Given the description of an element on the screen output the (x, y) to click on. 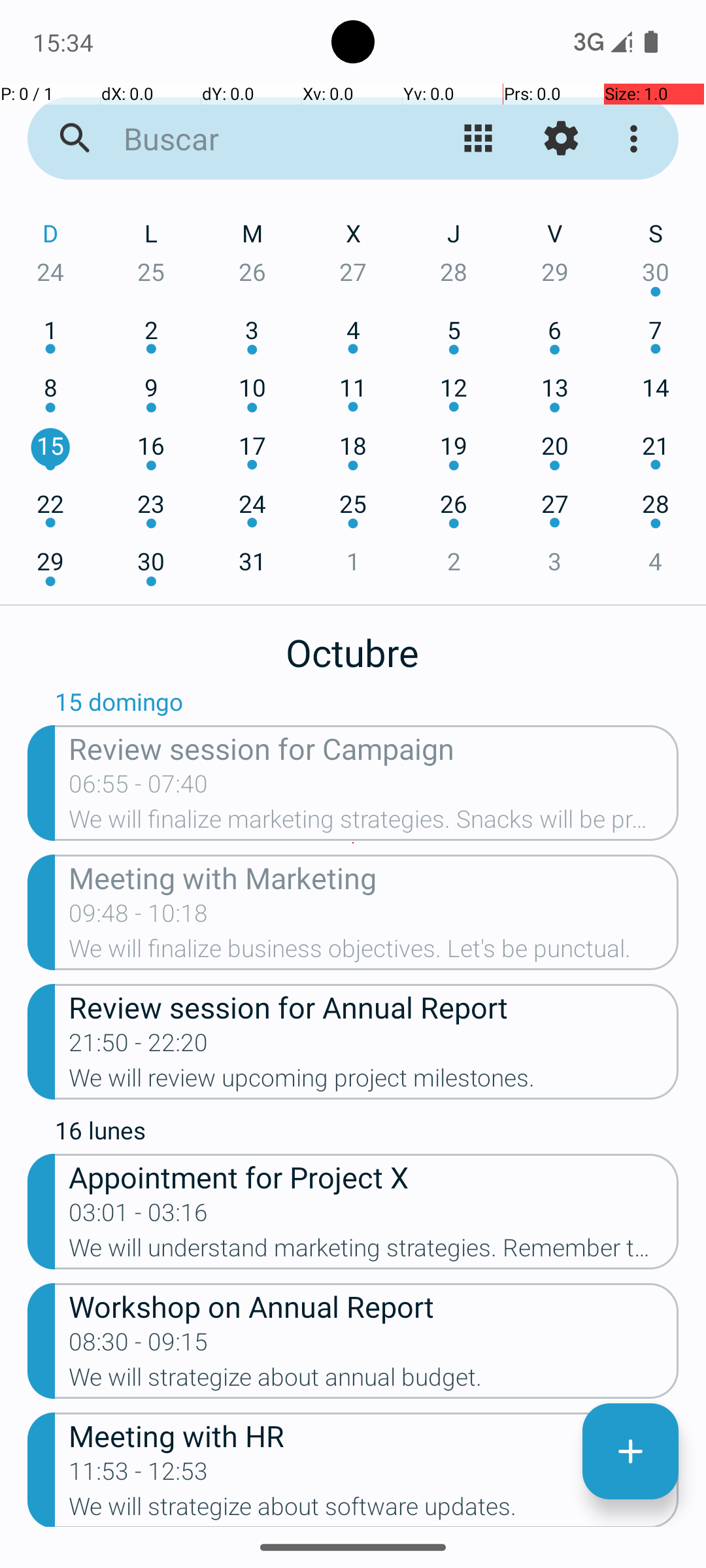
15 domingo Element type: android.widget.TextView (366, 704)
16 lunes Element type: android.widget.TextView (366, 1133)
Review session for Campaign Element type: android.widget.TextView (373, 747)
06:55 - 07:40 Element type: android.widget.TextView (137, 787)
We will finalize marketing strategies. Snacks will be provided. Element type: android.widget.TextView (373, 822)
Meeting with Marketing Element type: android.widget.TextView (373, 876)
09:48 - 10:18 Element type: android.widget.TextView (137, 916)
We will finalize business objectives. Let's be punctual. Element type: android.widget.TextView (373, 952)
Review session for Annual Report Element type: android.widget.TextView (373, 1006)
21:50 - 22:20 Element type: android.widget.TextView (137, 1046)
We will review upcoming project milestones. Element type: android.widget.TextView (373, 1081)
Appointment for Project X Element type: android.widget.TextView (373, 1175)
03:01 - 03:16 Element type: android.widget.TextView (137, 1216)
We will understand marketing strategies. Remember to confirm attendance. Element type: android.widget.TextView (373, 1251)
Workshop on Annual Report Element type: android.widget.TextView (373, 1305)
08:30 - 09:15 Element type: android.widget.TextView (137, 1345)
We will strategize about annual budget. Element type: android.widget.TextView (373, 1380)
Meeting with HR Element type: android.widget.TextView (373, 1434)
11:53 - 12:53 Element type: android.widget.TextView (137, 1474)
We will strategize about software updates. Element type: android.widget.TextView (373, 1509)
